Given the description of an element on the screen output the (x, y) to click on. 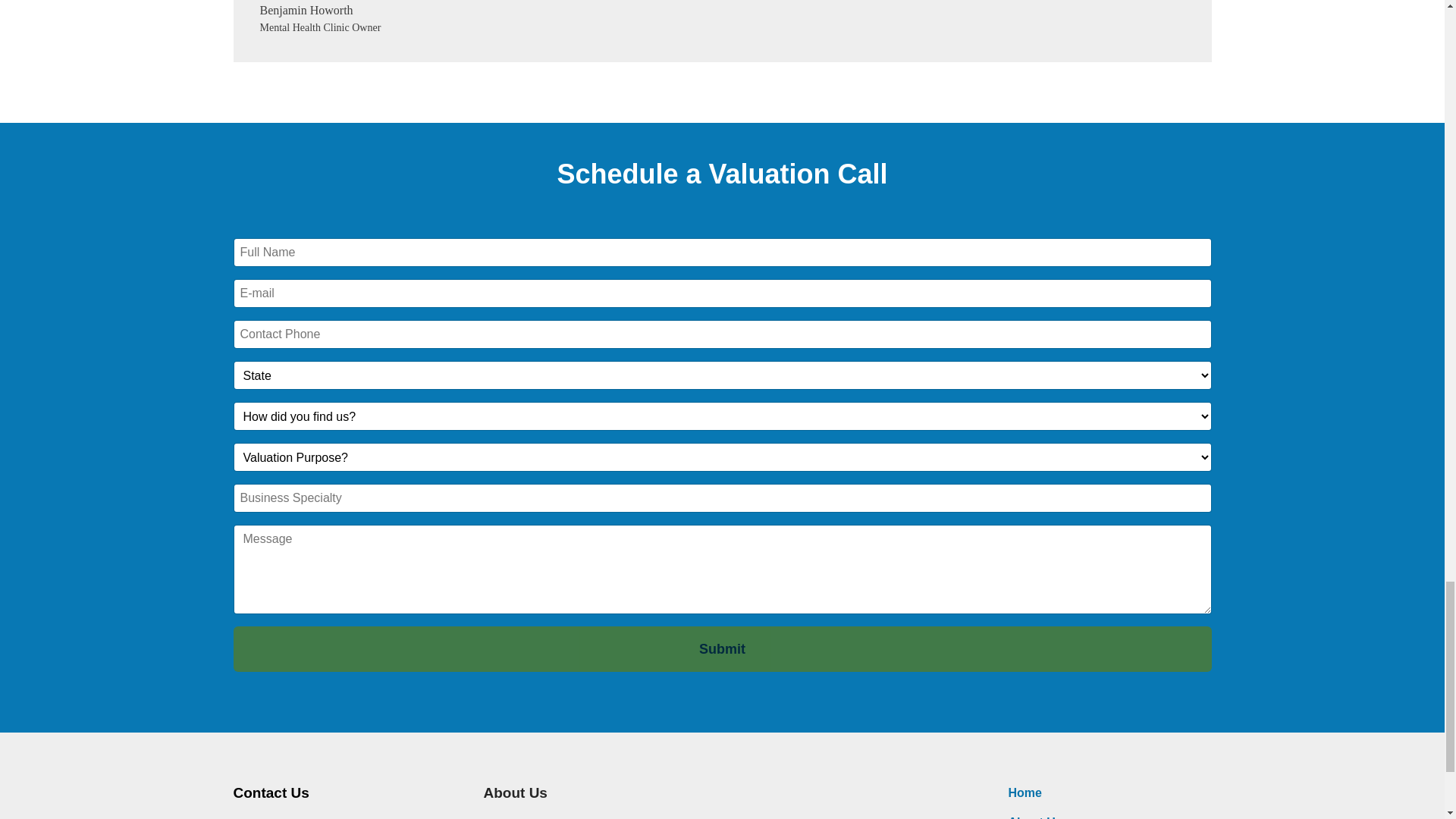
Submit (721, 648)
Home (1025, 792)
Contact Us (270, 792)
About Us (1035, 817)
